Given the description of an element on the screen output the (x, y) to click on. 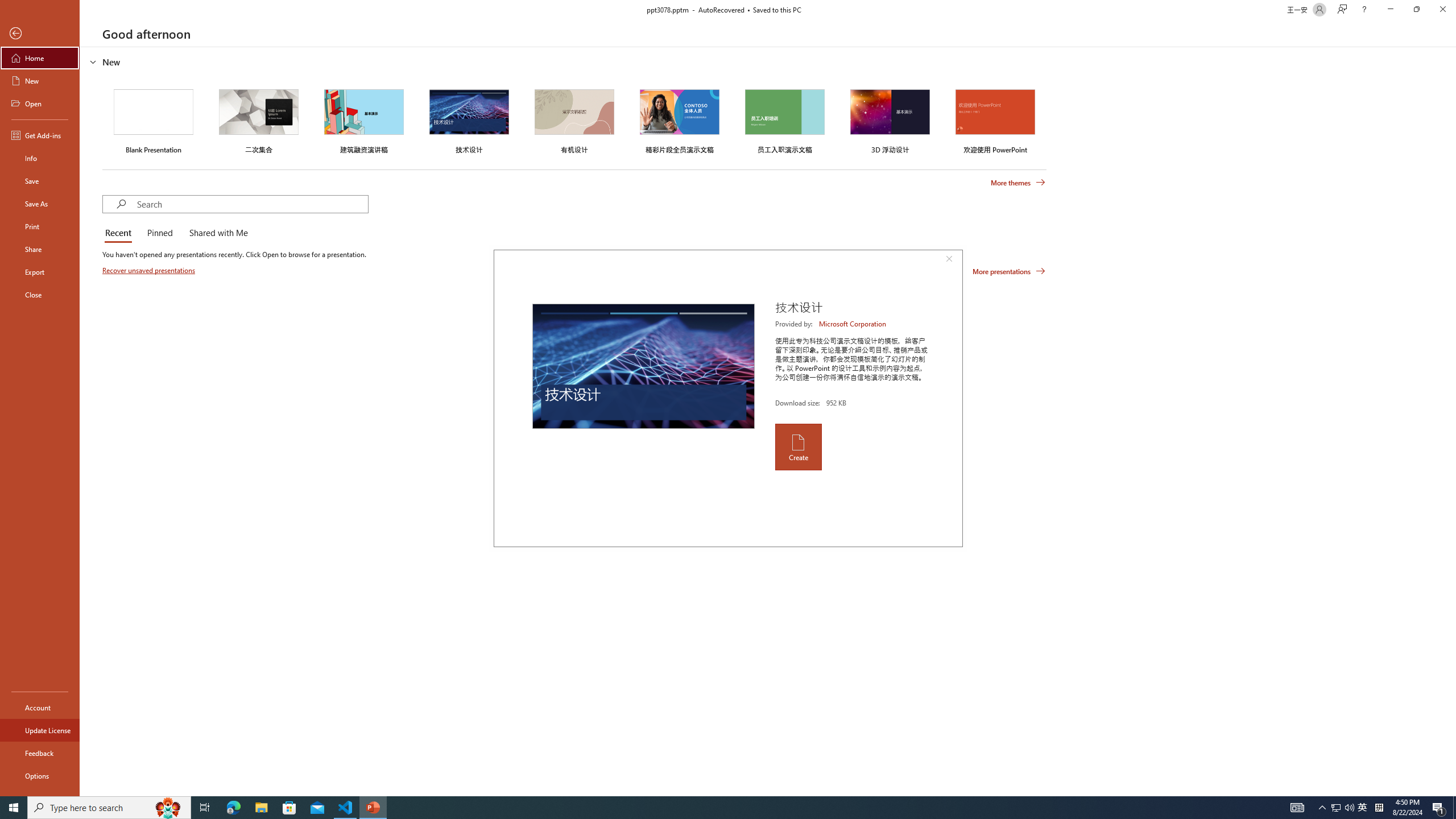
New (40, 80)
Get Add-ins (40, 134)
Save As (40, 203)
Update License (40, 730)
Recover unsaved presentations (149, 270)
